Given the description of an element on the screen output the (x, y) to click on. 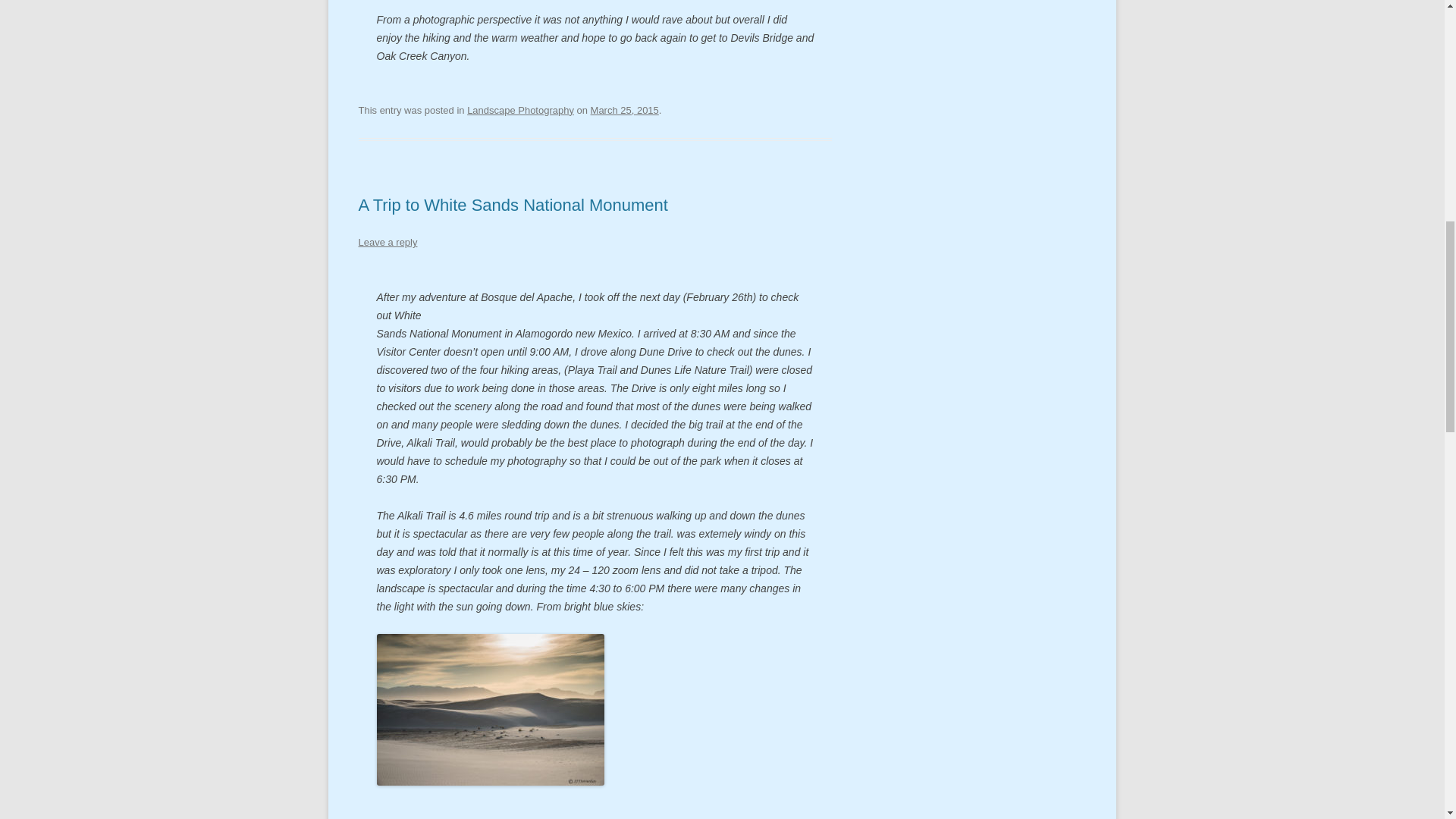
A Trip to White Sands National Monument (512, 204)
March 25, 2015 (625, 110)
3:58 PM (625, 110)
Landscape Photography (520, 110)
Leave a reply (387, 242)
